Given the description of an element on the screen output the (x, y) to click on. 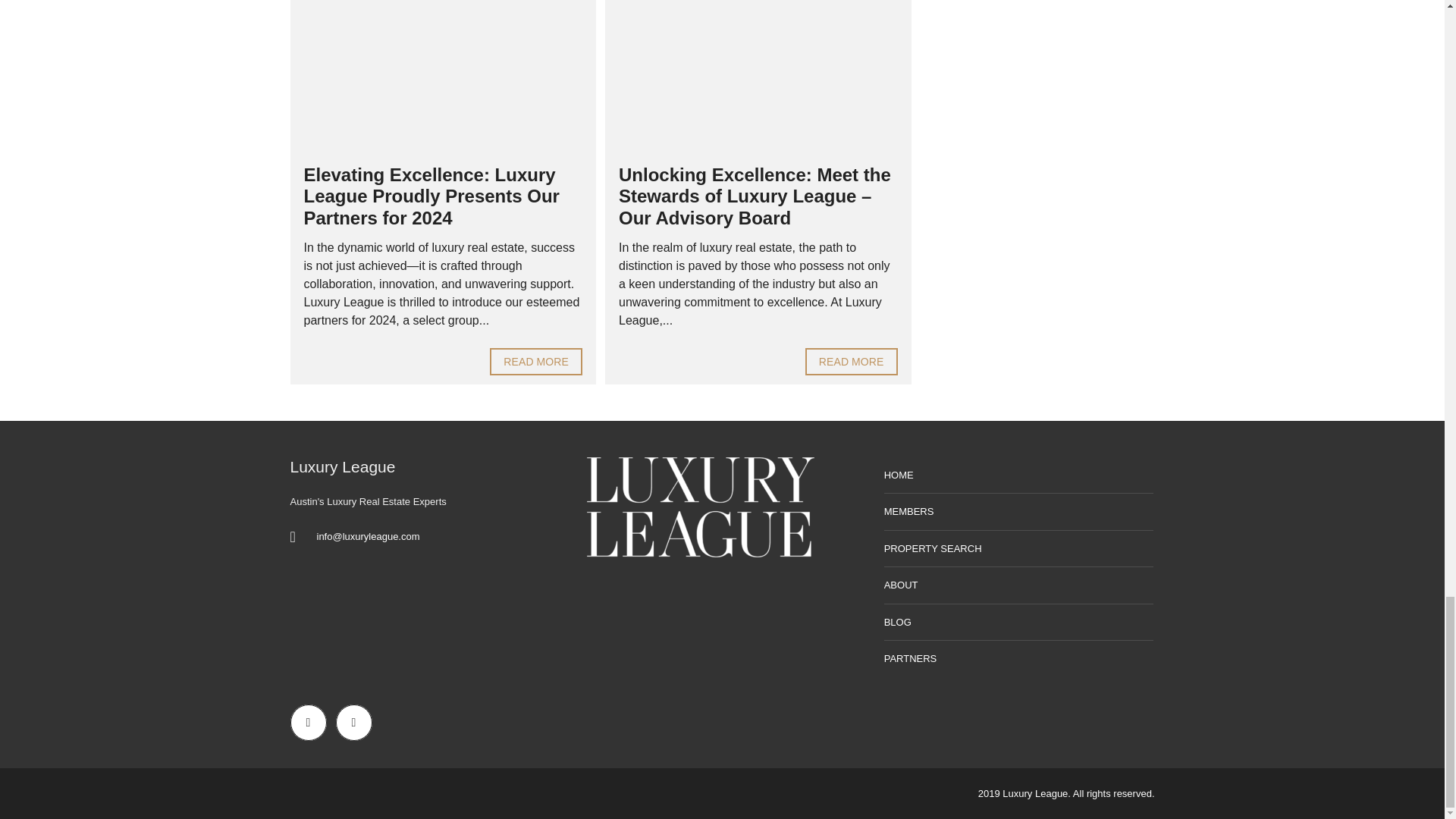
ABOUT (1018, 585)
HOME (1018, 475)
READ MORE (851, 361)
BLOG (1018, 622)
PROPERTY SEARCH (1018, 549)
READ MORE (535, 361)
FEBRUARY 14, 2024 (758, 77)
MEMBERS (1018, 511)
MARCH 4, 2024 (442, 77)
